Given the description of an element on the screen output the (x, y) to click on. 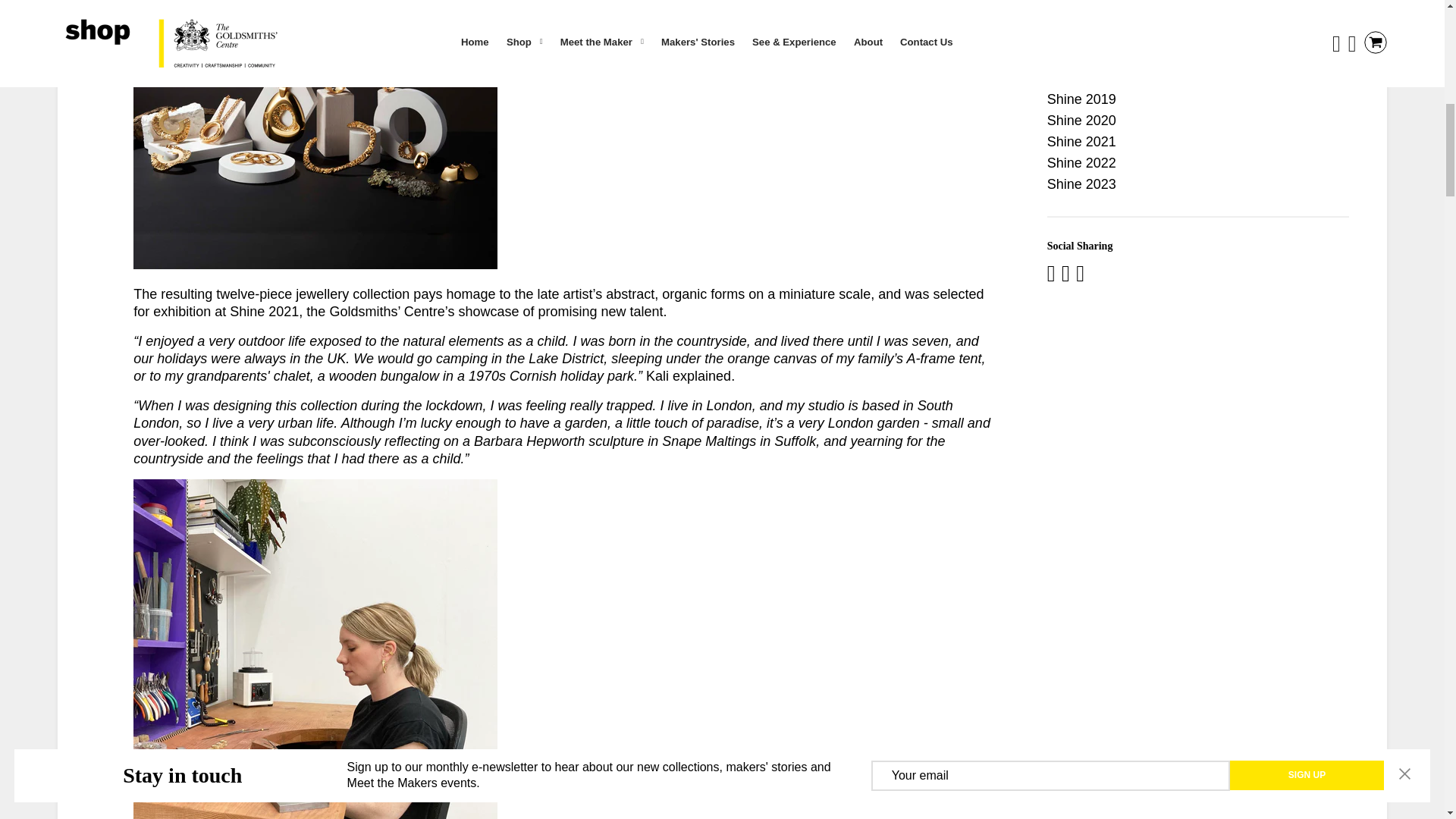
Show articles tagged Shine 2020 (1081, 120)
Show articles tagged Shine 2022 (1081, 162)
Show articles tagged Shine 2023 (1081, 183)
Show articles tagged Shine 2021 (1081, 141)
Show articles tagged Shine 2019 (1081, 99)
Show articles tagged Makers' Stories (1093, 57)
Show articles tagged News (1063, 77)
